Given the description of an element on the screen output the (x, y) to click on. 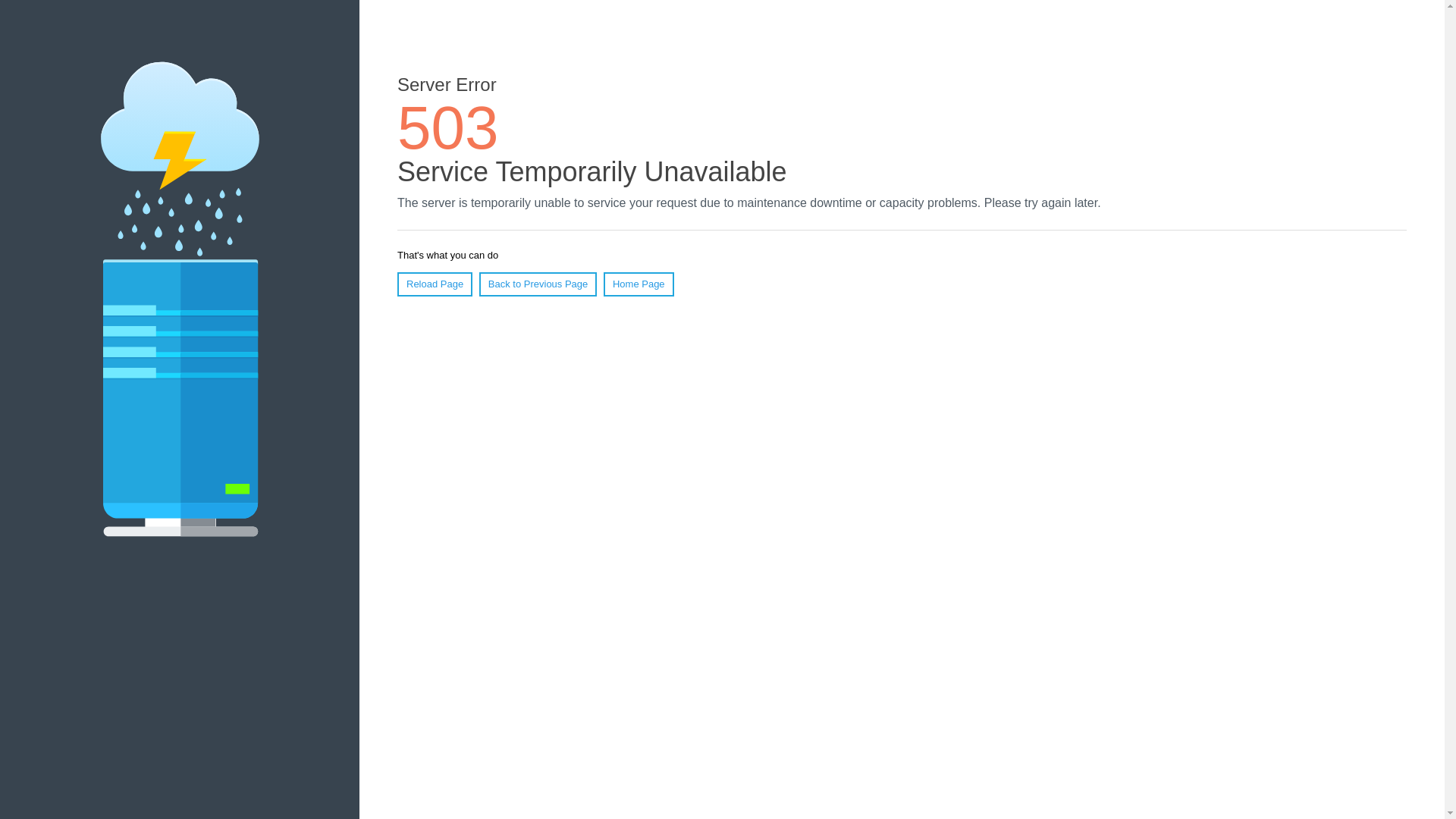
Home Page (639, 283)
Reload Page (434, 283)
Back to Previous Page (537, 283)
